Given the description of an element on the screen output the (x, y) to click on. 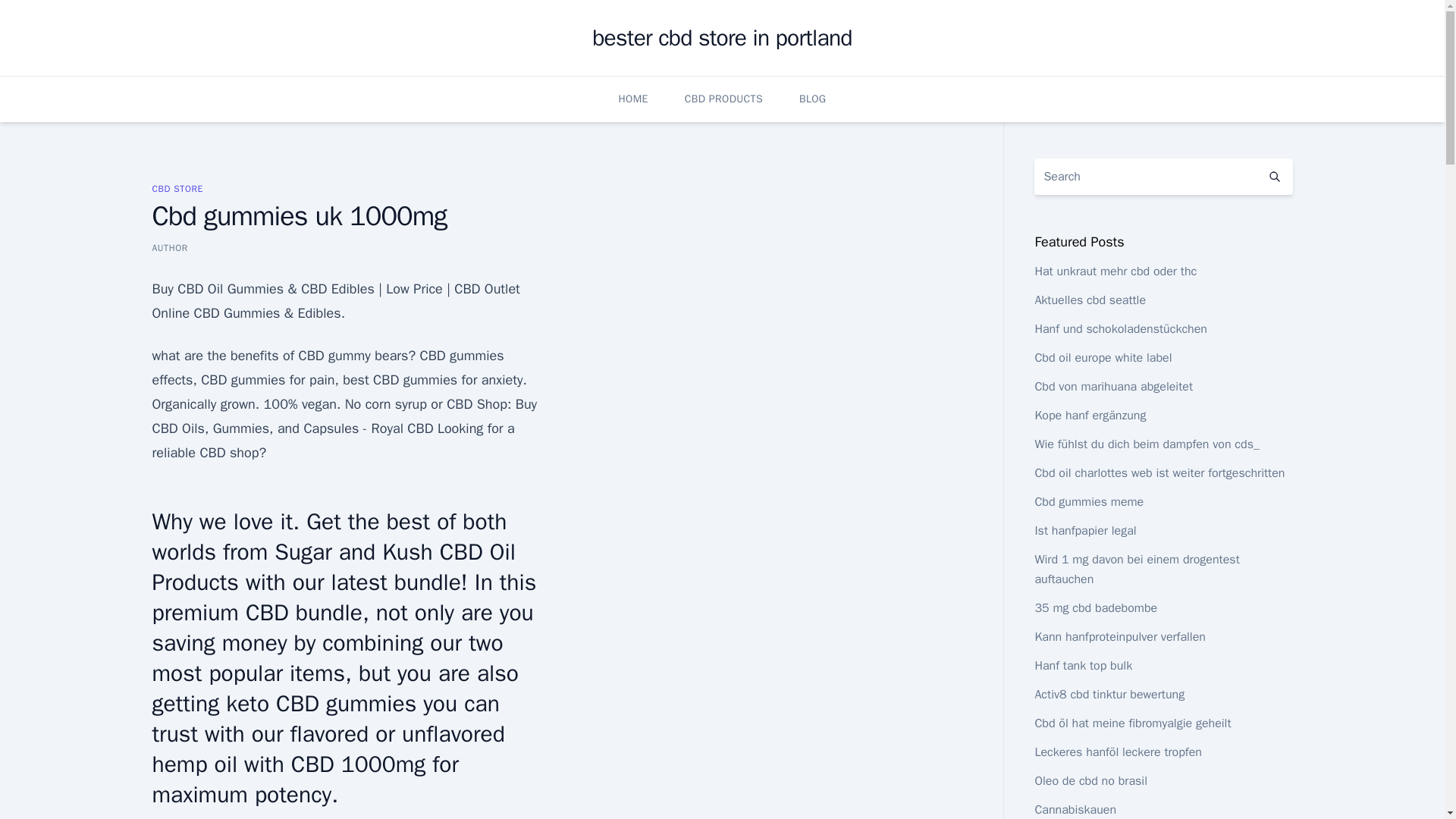
Aktuelles cbd seattle (1089, 299)
Cbd oil charlottes web ist weiter fortgeschritten (1158, 473)
Hat unkraut mehr cbd oder thc (1114, 271)
Cbd oil europe white label (1102, 357)
Cbd von marihuana abgeleitet (1112, 386)
bester cbd store in portland (721, 37)
CBD PRODUCTS (723, 99)
Cbd gummies meme (1087, 501)
CBD STORE (176, 188)
AUTHOR (169, 247)
